Given the description of an element on the screen output the (x, y) to click on. 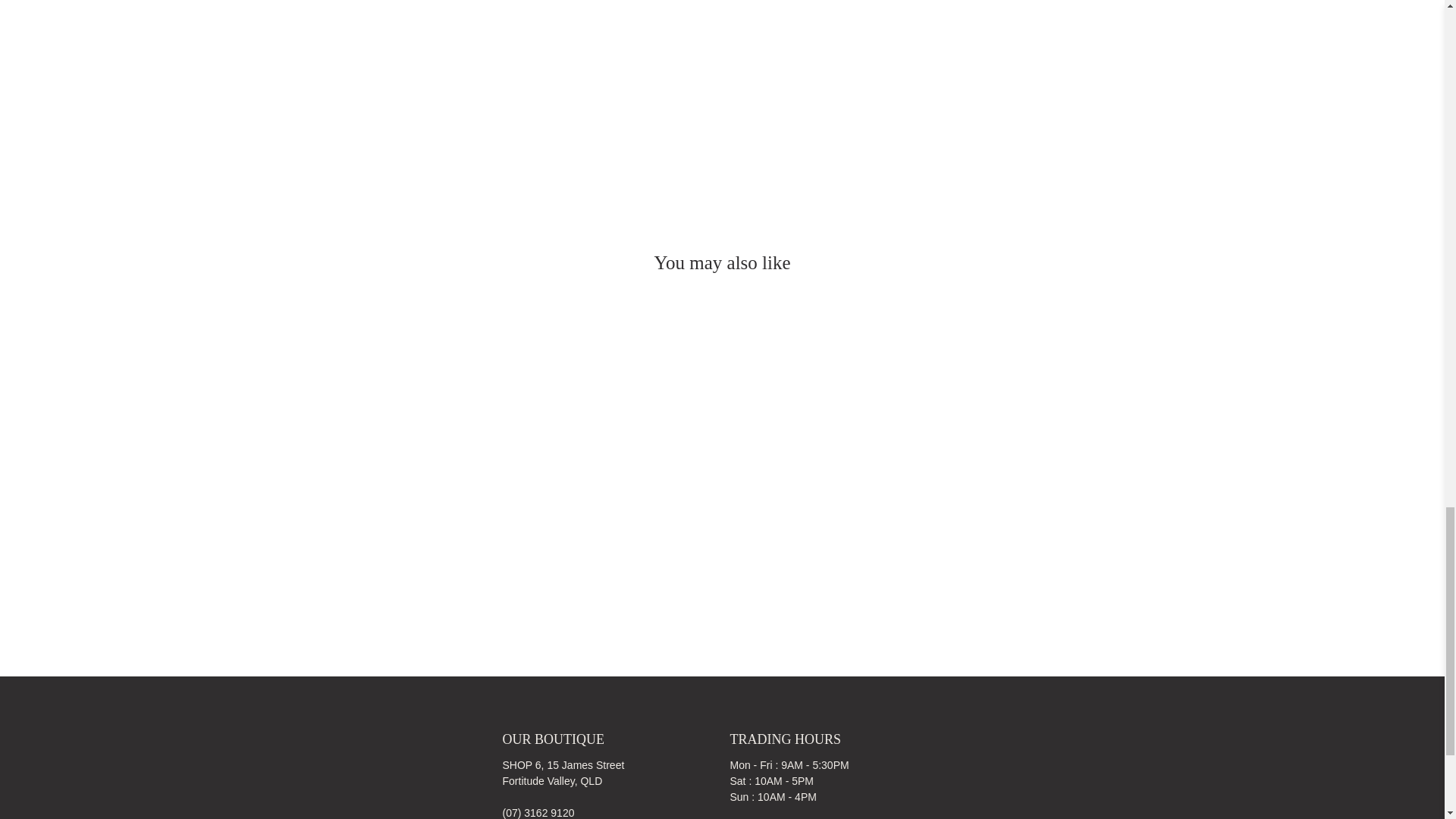
Klemenza (338, 774)
